Given the description of an element on the screen output the (x, y) to click on. 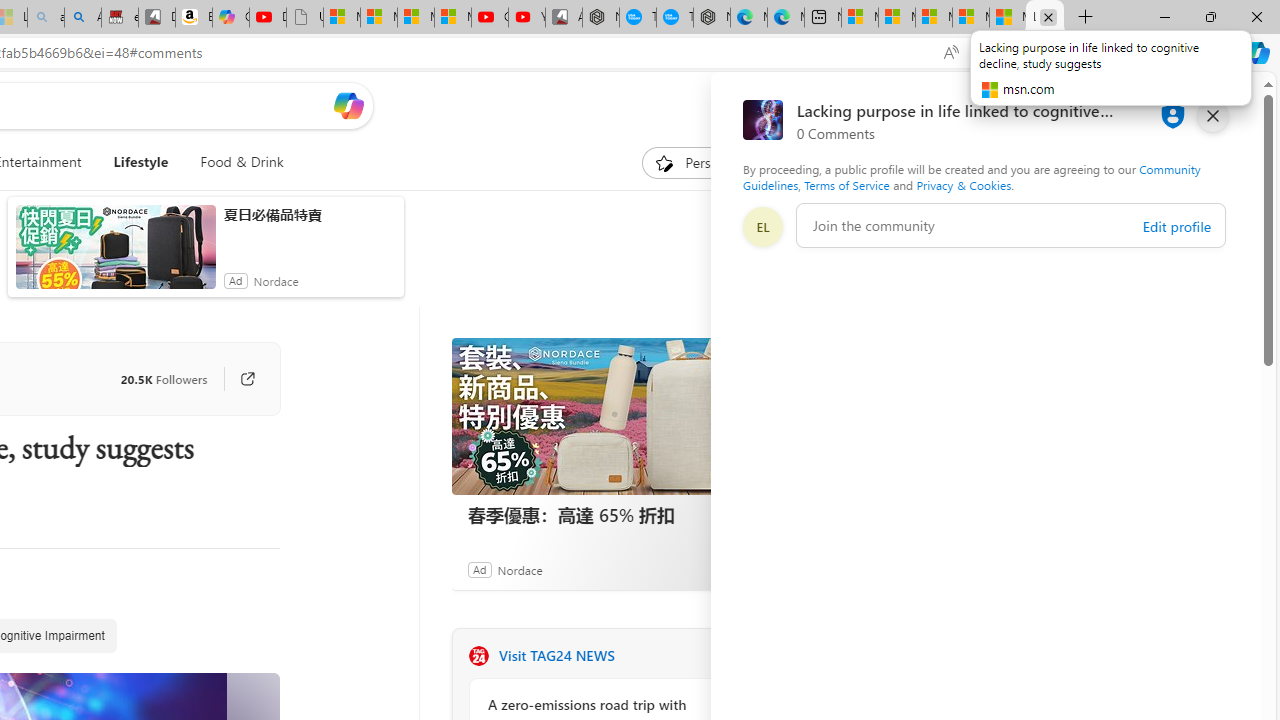
Untitled (304, 17)
close (1212, 115)
Go to publisher's site (237, 378)
Enter Immersive Reader (F9) (991, 53)
comment-box (1011, 225)
Food & Drink (234, 162)
